Given the description of an element on the screen output the (x, y) to click on. 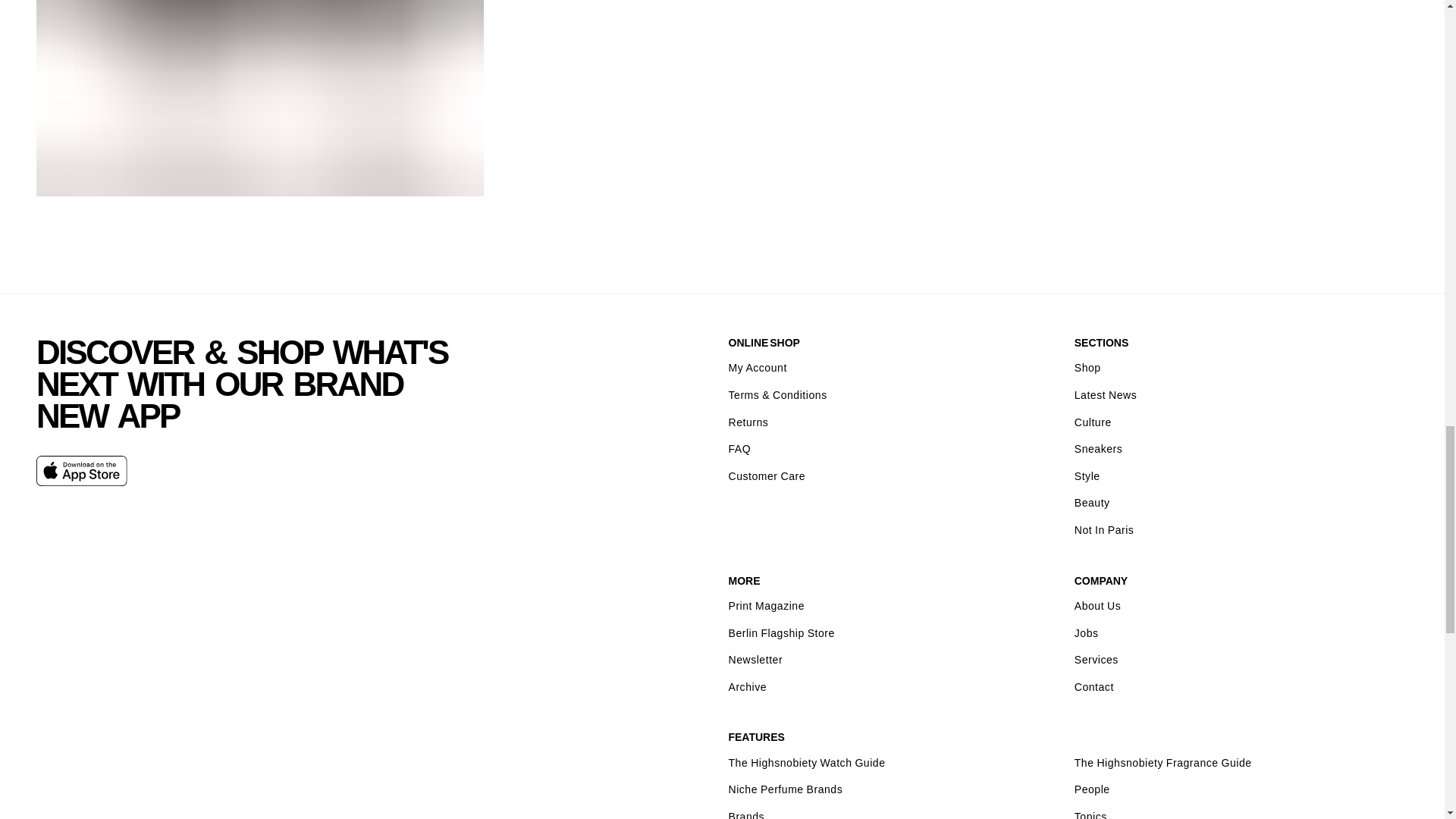
Sneakers (1098, 449)
Style (1087, 476)
FAQ (739, 449)
Latest News (1105, 395)
My Account (757, 368)
Returns (748, 422)
Customer Care (766, 476)
Shop (1087, 368)
Culture (1093, 422)
Not In Paris (1104, 530)
Beauty (1091, 503)
